Given the description of an element on the screen output the (x, y) to click on. 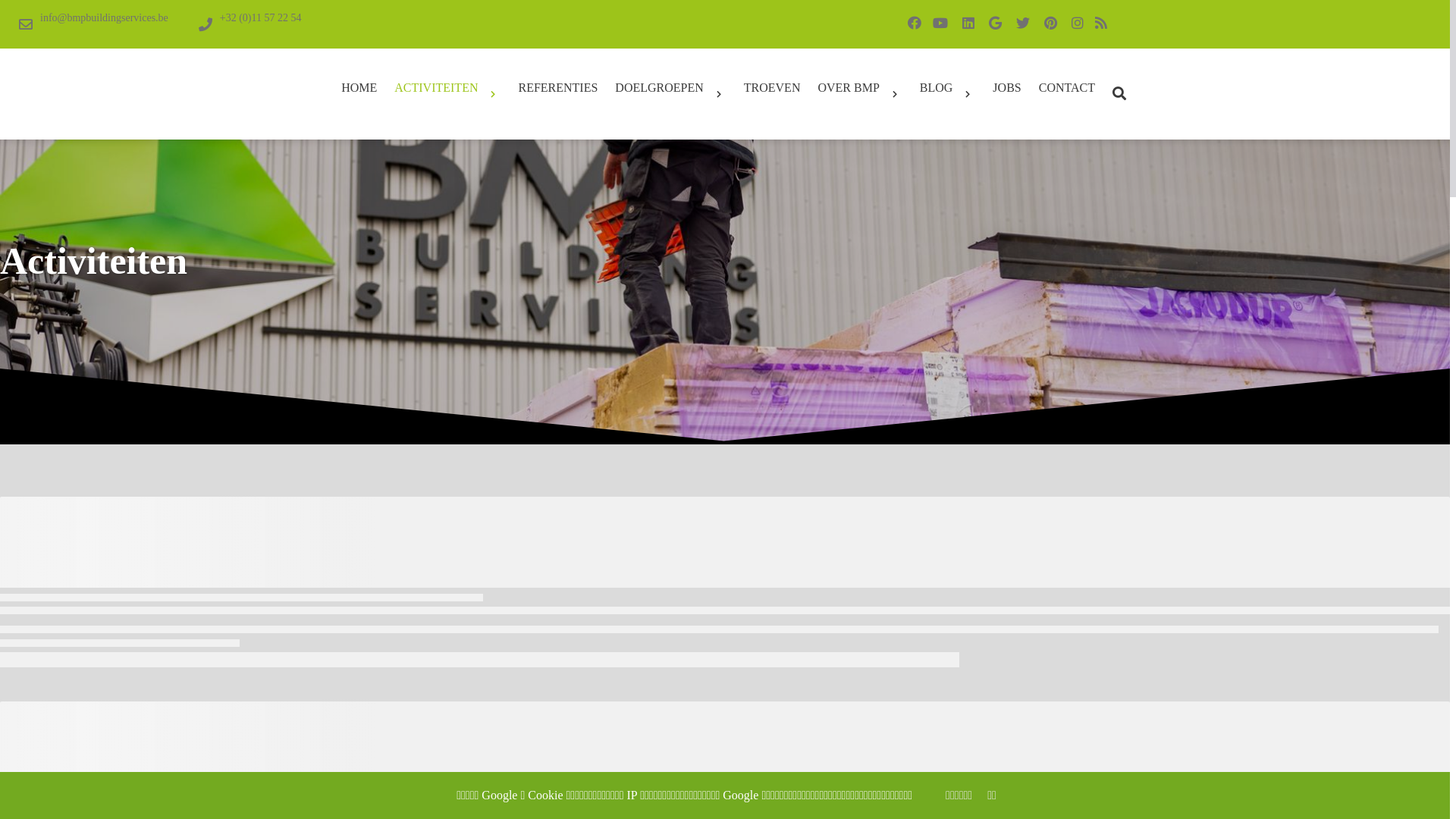
HOME Element type: text (358, 87)
REFERENTIES Element type: text (557, 87)
+32 (0)11 57 22 54 Element type: text (249, 24)
ACTIVITEITEN Element type: text (447, 93)
TROEVEN Element type: text (771, 87)
CONTACT Element type: text (1066, 87)
JOBS Element type: text (1006, 87)
info@bmpbuildingservices.be Element type: text (93, 24)
OVER BMP Element type: text (859, 93)
DOELGROEPEN Element type: text (670, 93)
BLOG Element type: text (947, 93)
